Given the description of an element on the screen output the (x, y) to click on. 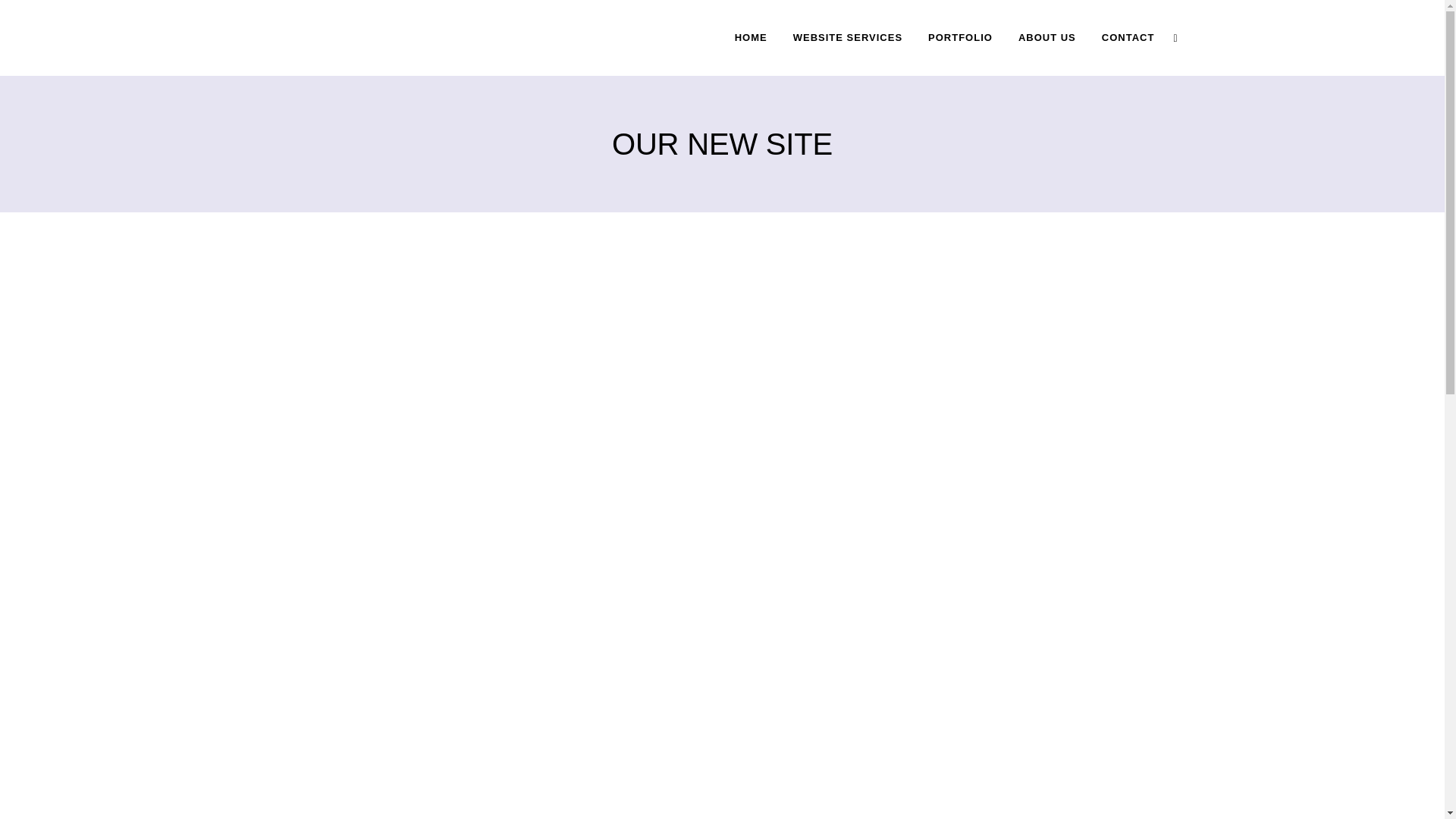
PORTFOLIO (960, 38)
CONTACT (1128, 38)
WEBSITE SERVICES (847, 38)
ABOUT US (1047, 38)
